Given the description of an element on the screen output the (x, y) to click on. 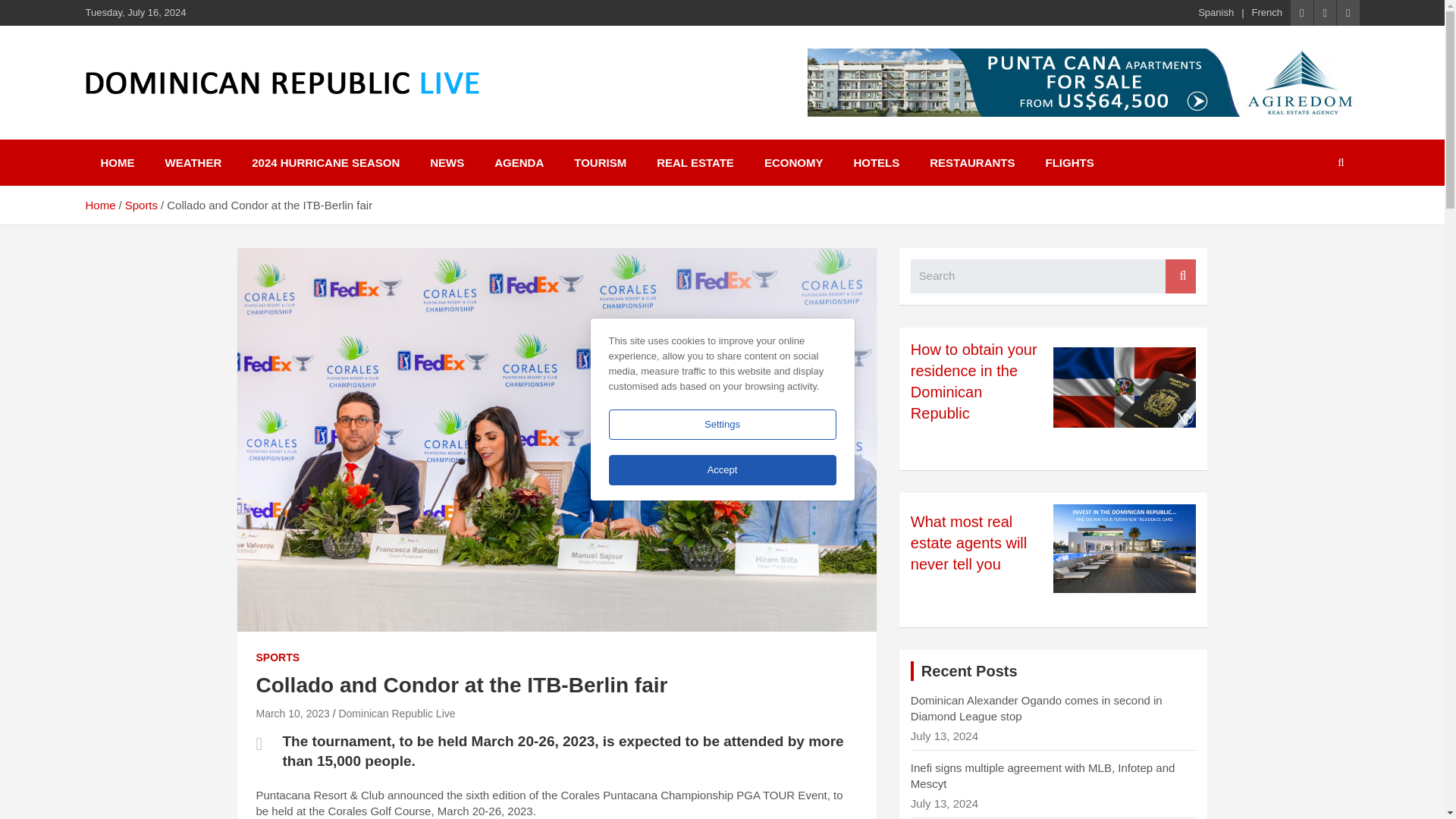
FLIGHTS (1068, 162)
REAL ESTATE (695, 162)
Home (99, 205)
Dominican Republic Live (395, 713)
AGENDA (519, 162)
NEWS (446, 162)
Spanish (1215, 12)
ECONOMY (793, 162)
HOME (116, 162)
Sports (141, 205)
TOURISM (600, 162)
French (1267, 12)
WEATHER (193, 162)
Collado and Condor at the ITB-Berlin fair (293, 713)
2024 HURRICANE SEASON (324, 162)
